Given the description of an element on the screen output the (x, y) to click on. 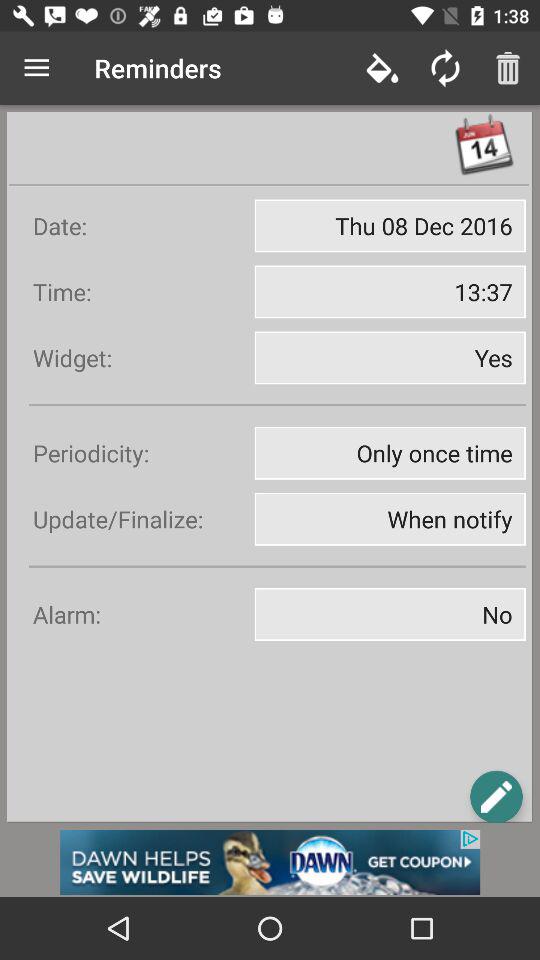
write option (496, 796)
